Given the description of an element on the screen output the (x, y) to click on. 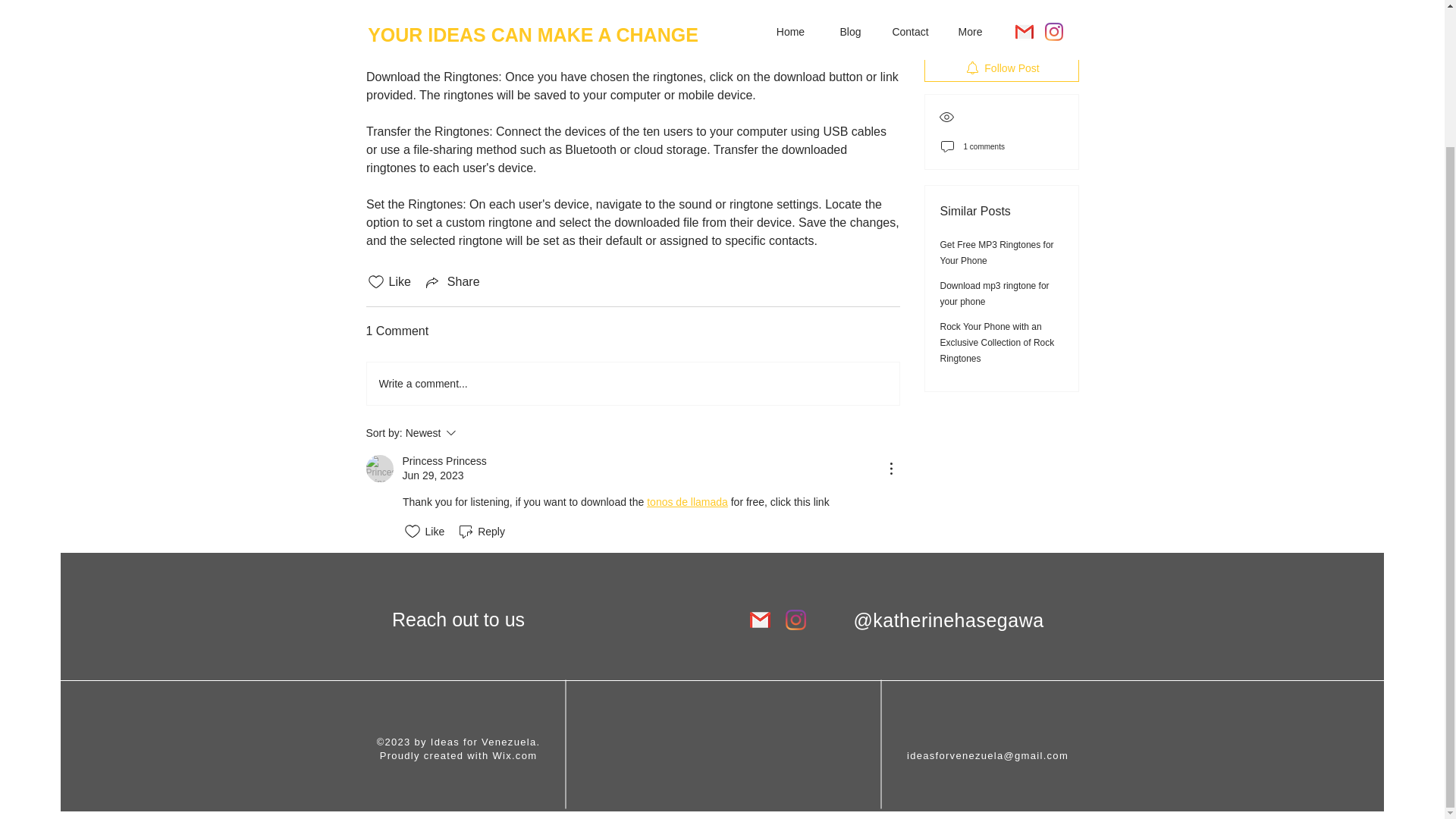
Site Rules (721, 736)
Follow Post (471, 410)
Get Free MP3 Ringtones for Your Phone (1000, 2)
Write a comment... (997, 176)
Reply (632, 360)
Share (481, 508)
Princess Princess (451, 259)
FAQ (379, 445)
tonos de llamada (721, 760)
